Given the description of an element on the screen output the (x, y) to click on. 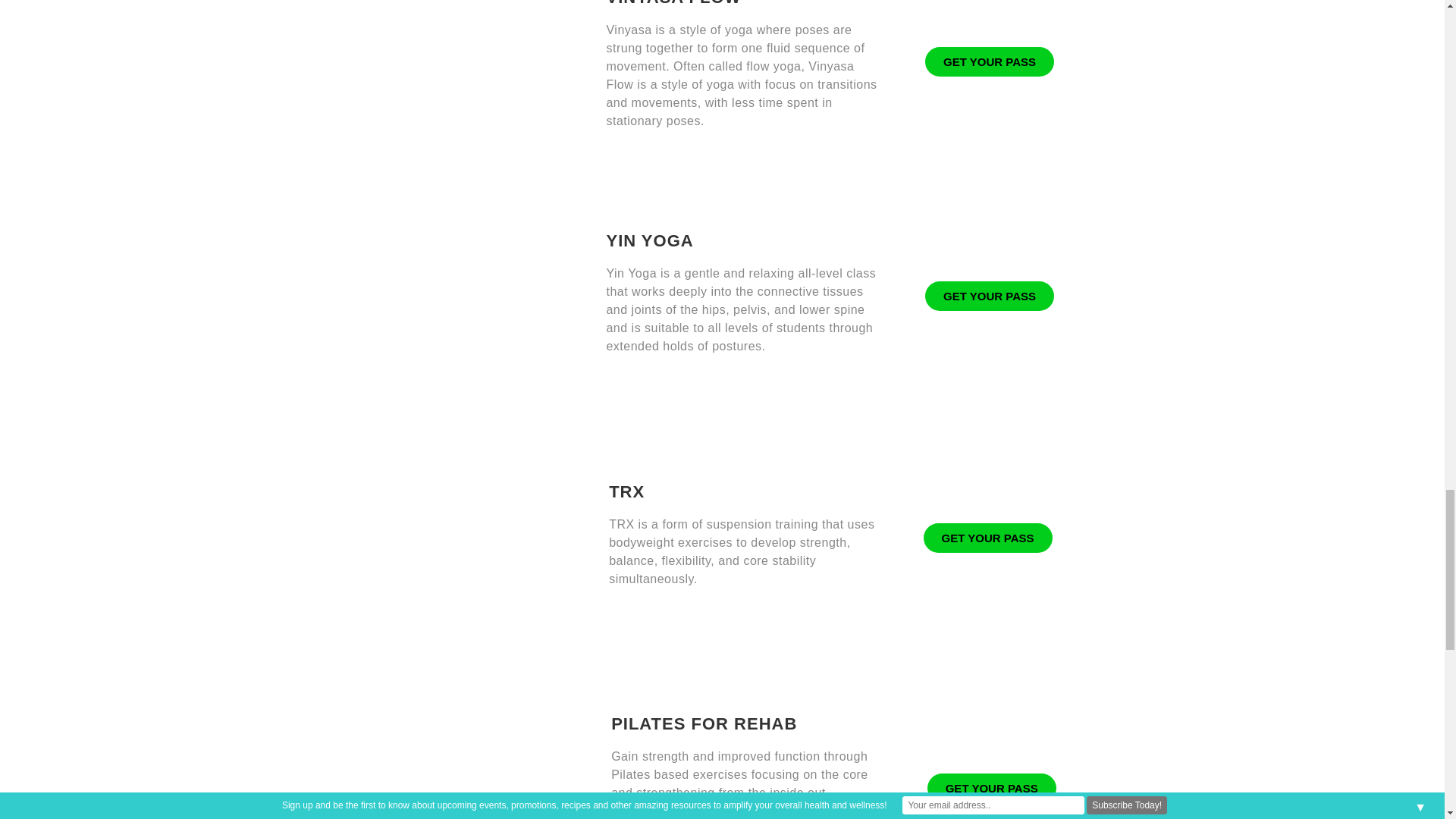
GET YOUR PASS (987, 537)
GET YOUR PASS (992, 788)
GET YOUR PASS (989, 61)
GET YOUR PASS (989, 296)
